Given the description of an element on the screen output the (x, y) to click on. 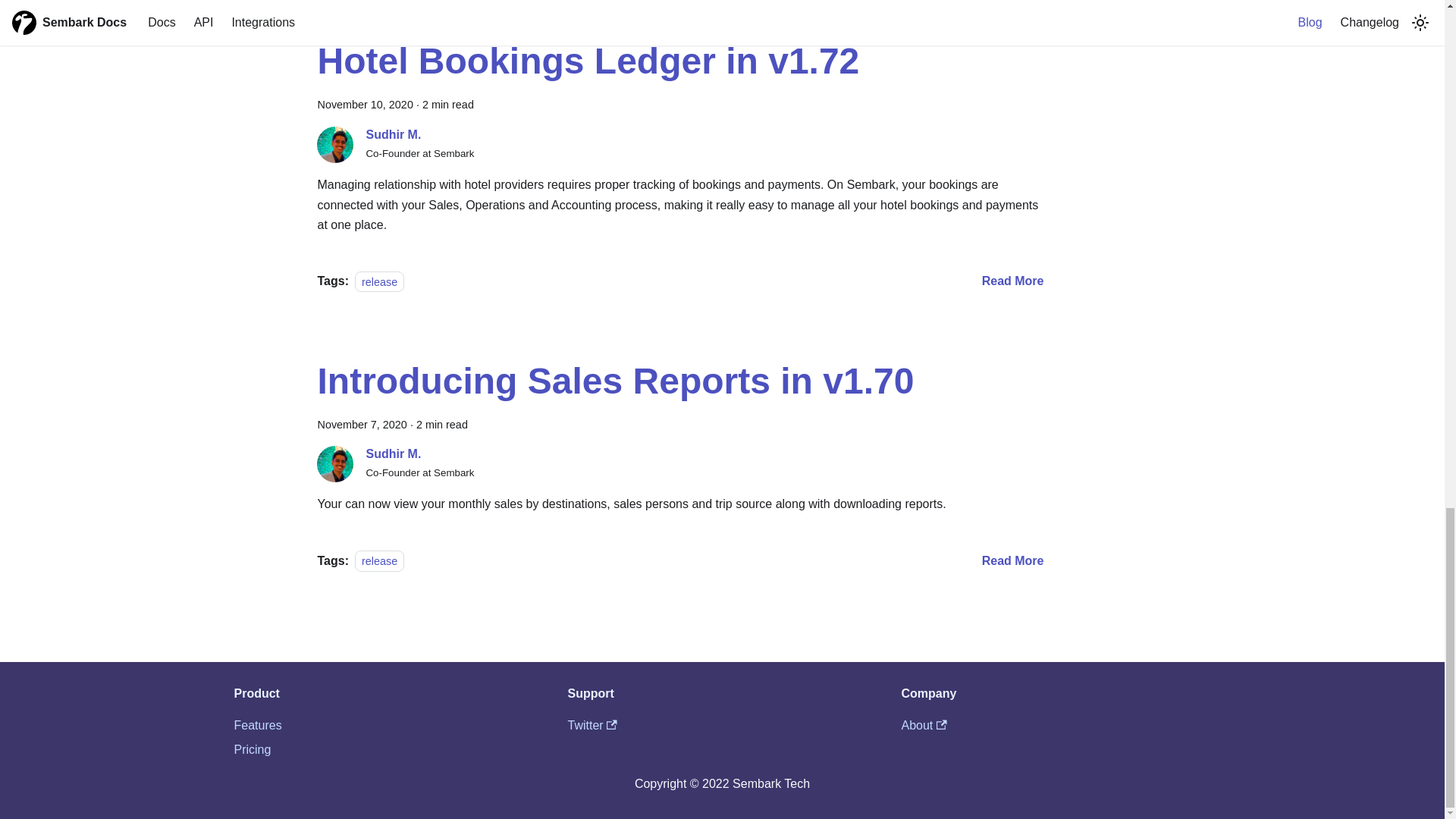
Read More (1012, 280)
release (379, 560)
Read More (1012, 560)
Hotel Bookings Ledger in v1.72 (588, 60)
release (379, 281)
Introducing Sales Reports in v1.70 (615, 381)
Sudhir M. (392, 453)
Sudhir M. (392, 133)
